Given the description of an element on the screen output the (x, y) to click on. 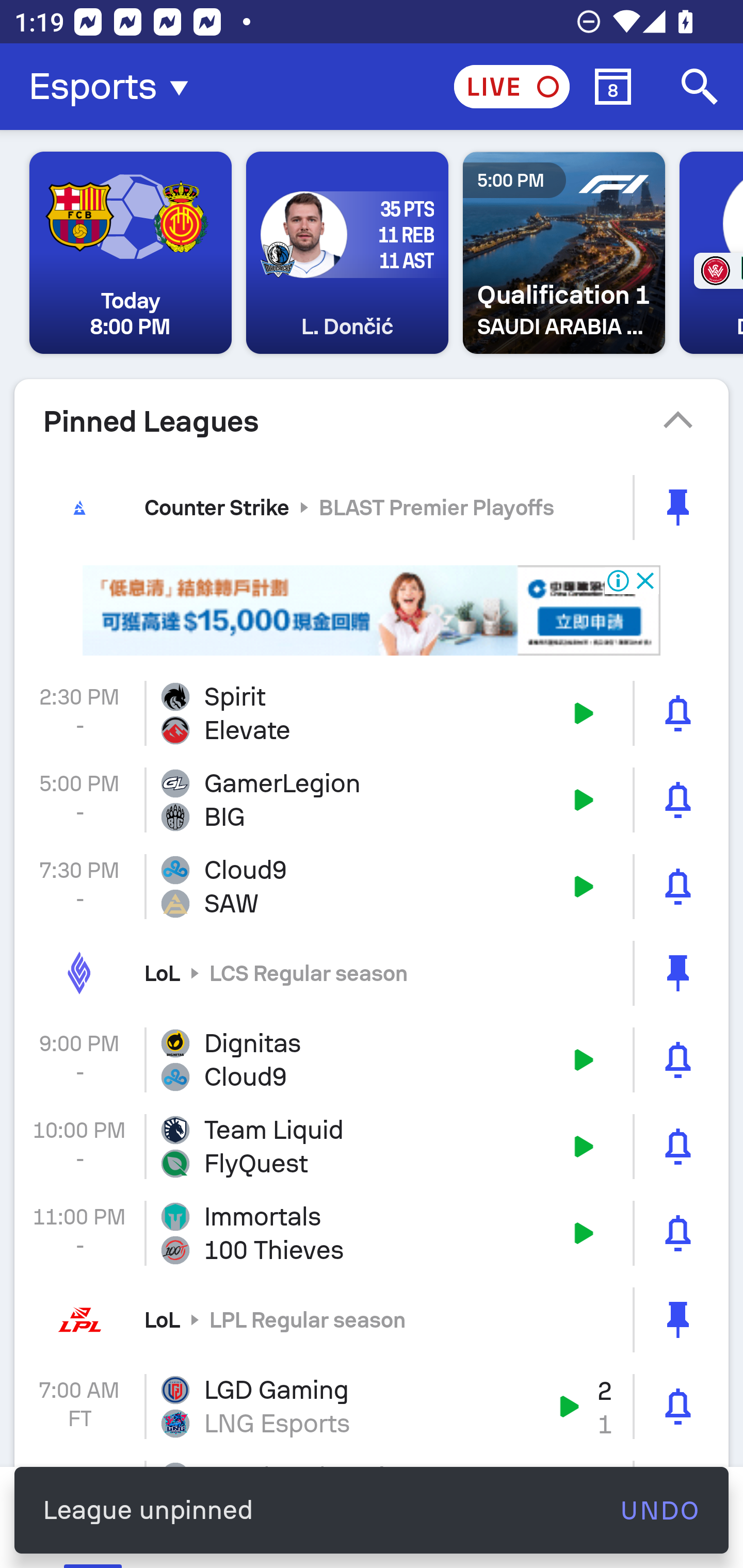
Esports (114, 86)
Calendar (612, 86)
Search (699, 86)
Today
8:00 PM (130, 253)
35 PTS
11 REB
11 AST L. Dončić (346, 253)
Pinned Leagues (371, 421)
Counter Strike BLAST Premier Playoffs (371, 507)
Advertisement (371, 610)
2:30 PM - Spirit Elevate (371, 713)
5:00 PM - GamerLegion BIG (371, 800)
7:30 PM - Cloud9 SAW (371, 886)
LoL LCS Regular season (371, 972)
9:00 PM - Dignitas Cloud9 (371, 1059)
10:00 PM - Team Liquid FlyQuest (371, 1146)
11:00 PM - Immortals 100 Thieves (371, 1233)
LoL LPL Regular season (371, 1319)
7:00 AM FT LGD Gaming LNG Esports 2 1 (371, 1406)
UNDO (659, 1510)
